Given the description of an element on the screen output the (x, y) to click on. 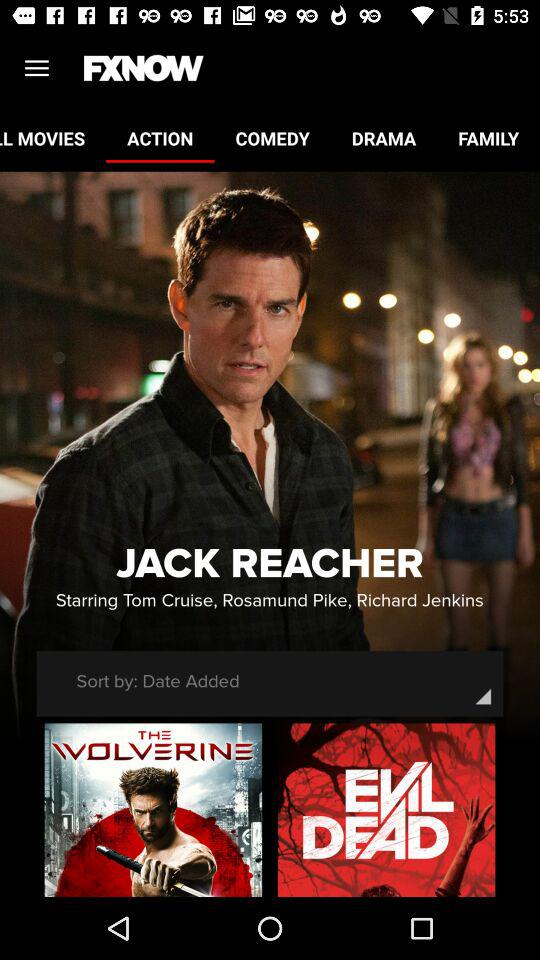
click item above all movies icon (36, 68)
